Given the description of an element on the screen output the (x, y) to click on. 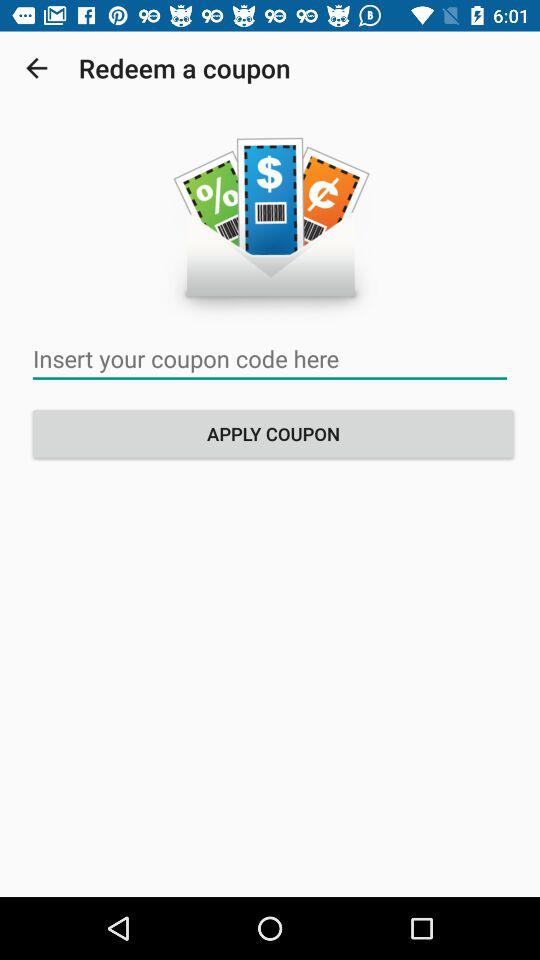
open icon next to the redeem a coupon item (36, 68)
